Given the description of an element on the screen output the (x, y) to click on. 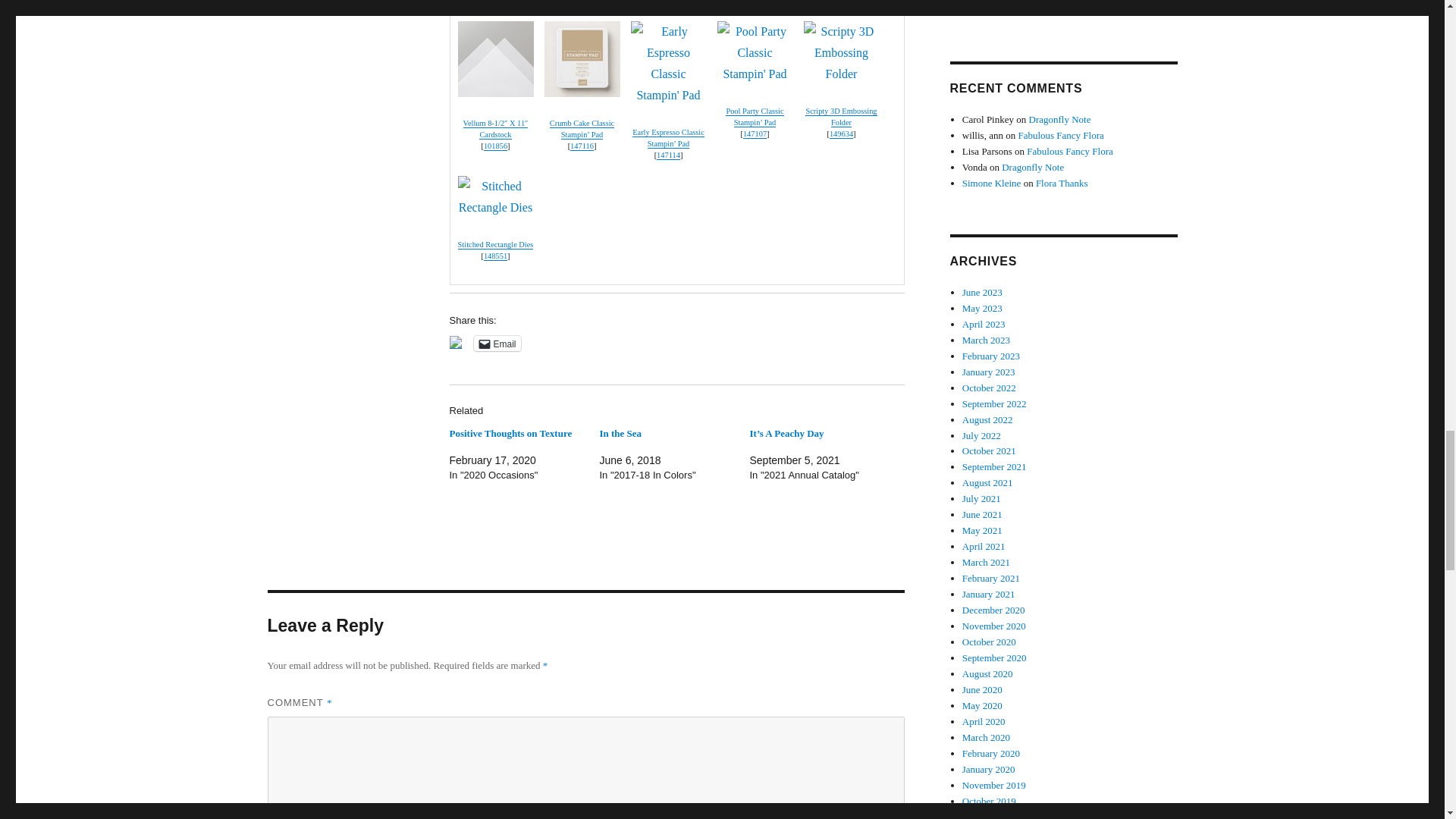
Scripty 3D Embossing Folder (840, 116)
149634 (841, 133)
147116 (582, 145)
101856 (494, 145)
147114 (667, 154)
147107 (754, 133)
119686 (667, 2)
